Given the description of an element on the screen output the (x, y) to click on. 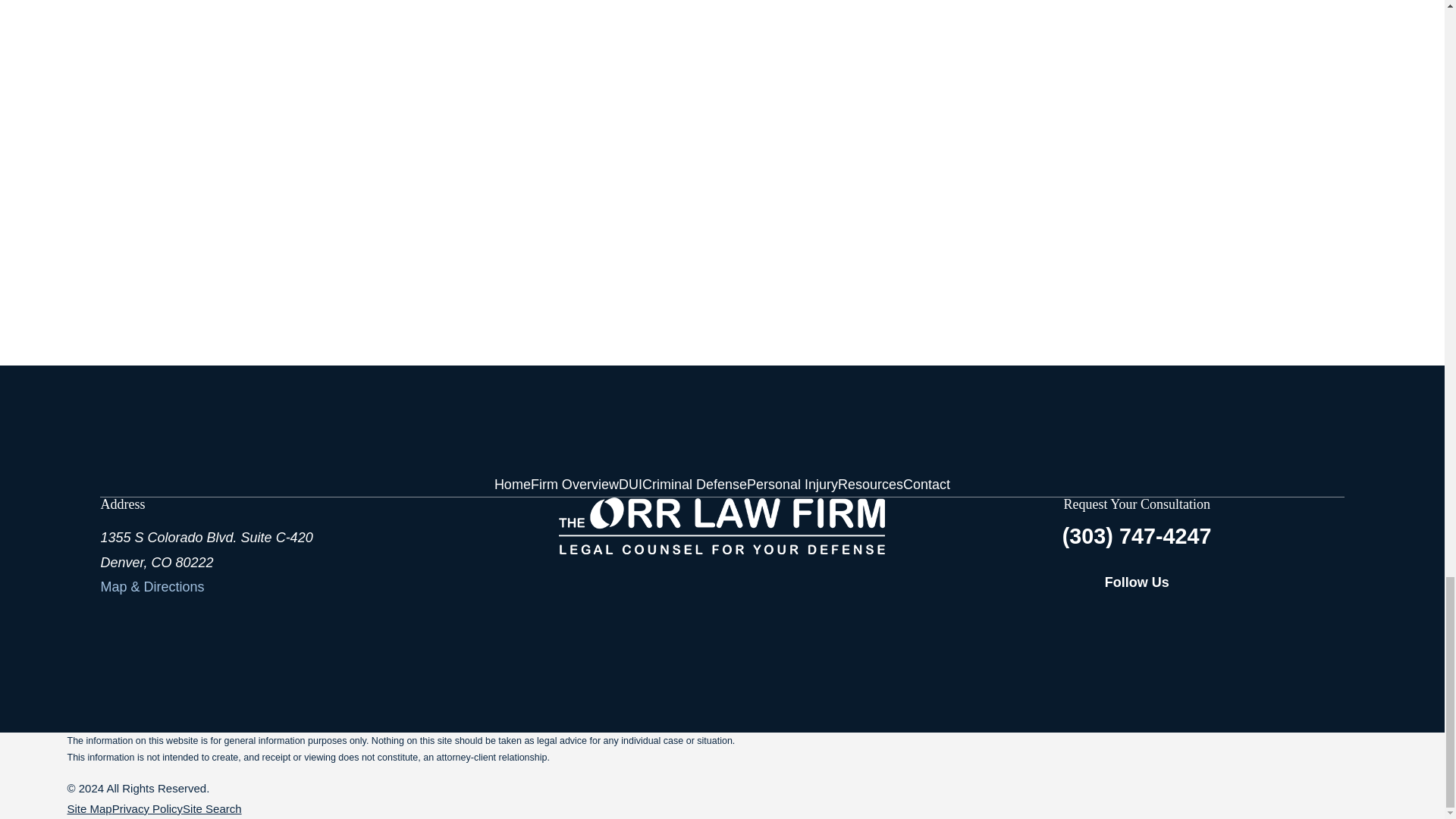
Yelp (1333, 615)
Facebook (1186, 615)
Google Business Profile (1285, 615)
Twitter (1236, 615)
Home (722, 525)
